Given the description of an element on the screen output the (x, y) to click on. 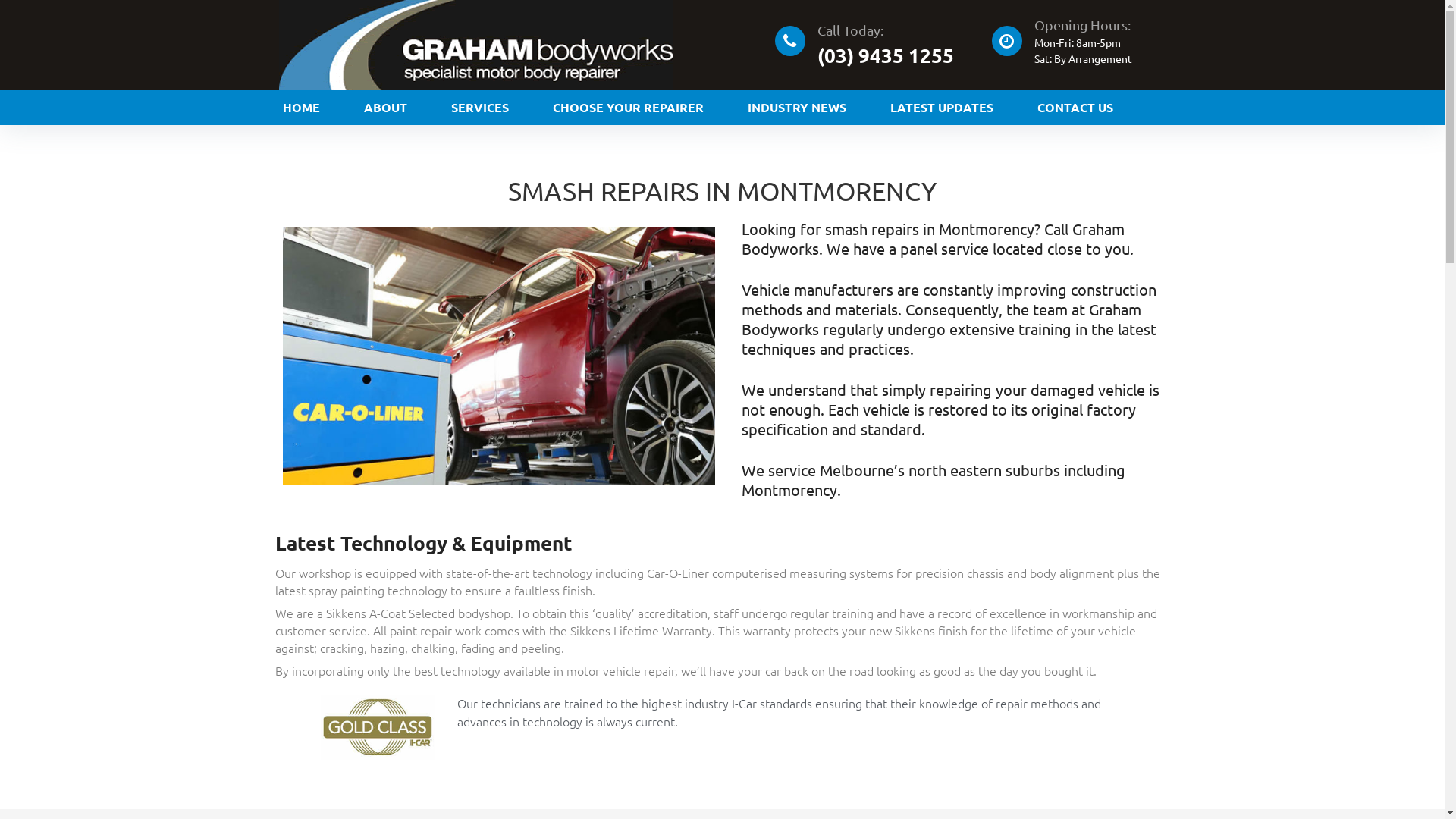
ABOUT Element type: text (384, 107)
INDUSTRY NEWS Element type: text (795, 107)
SERVICES Element type: text (479, 107)
LATEST UPDATES Element type: text (941, 107)
HOME Element type: text (301, 107)
(03) 9435 1255 Element type: text (885, 54)
CHOOSE YOUR REPAIRER Element type: text (628, 107)
CONTACT US Element type: text (1074, 107)
